Given the description of an element on the screen output the (x, y) to click on. 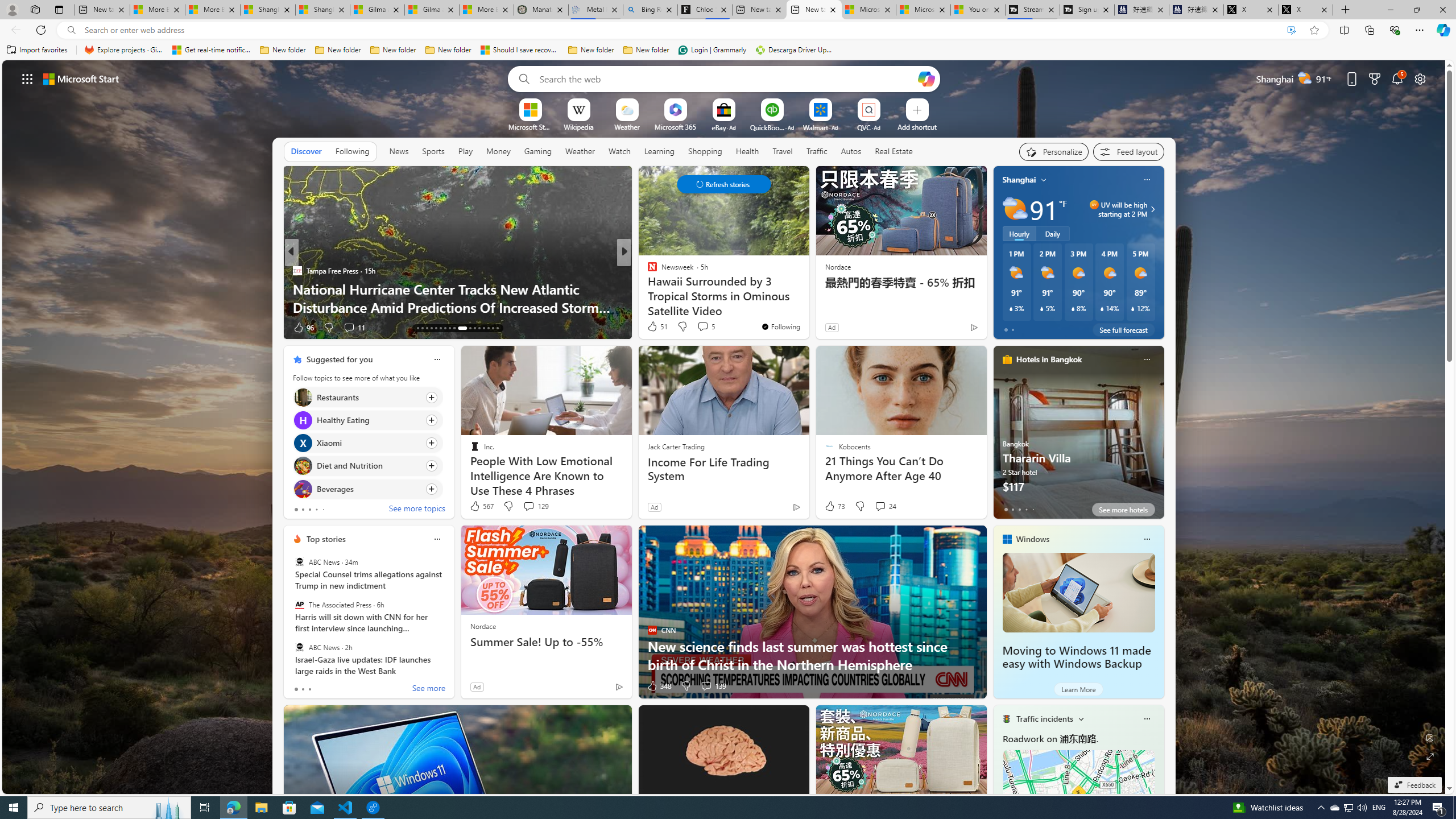
Traffic Title Traffic Light (1005, 718)
Microsoft start (81, 78)
Bing Real Estate - Home sales and rental listings (650, 9)
The Associated Press (299, 604)
Import favorites (36, 49)
Hourly (1018, 233)
You're following The Weather Channel (253, 329)
Lifehacker (647, 270)
